Given the description of an element on the screen output the (x, y) to click on. 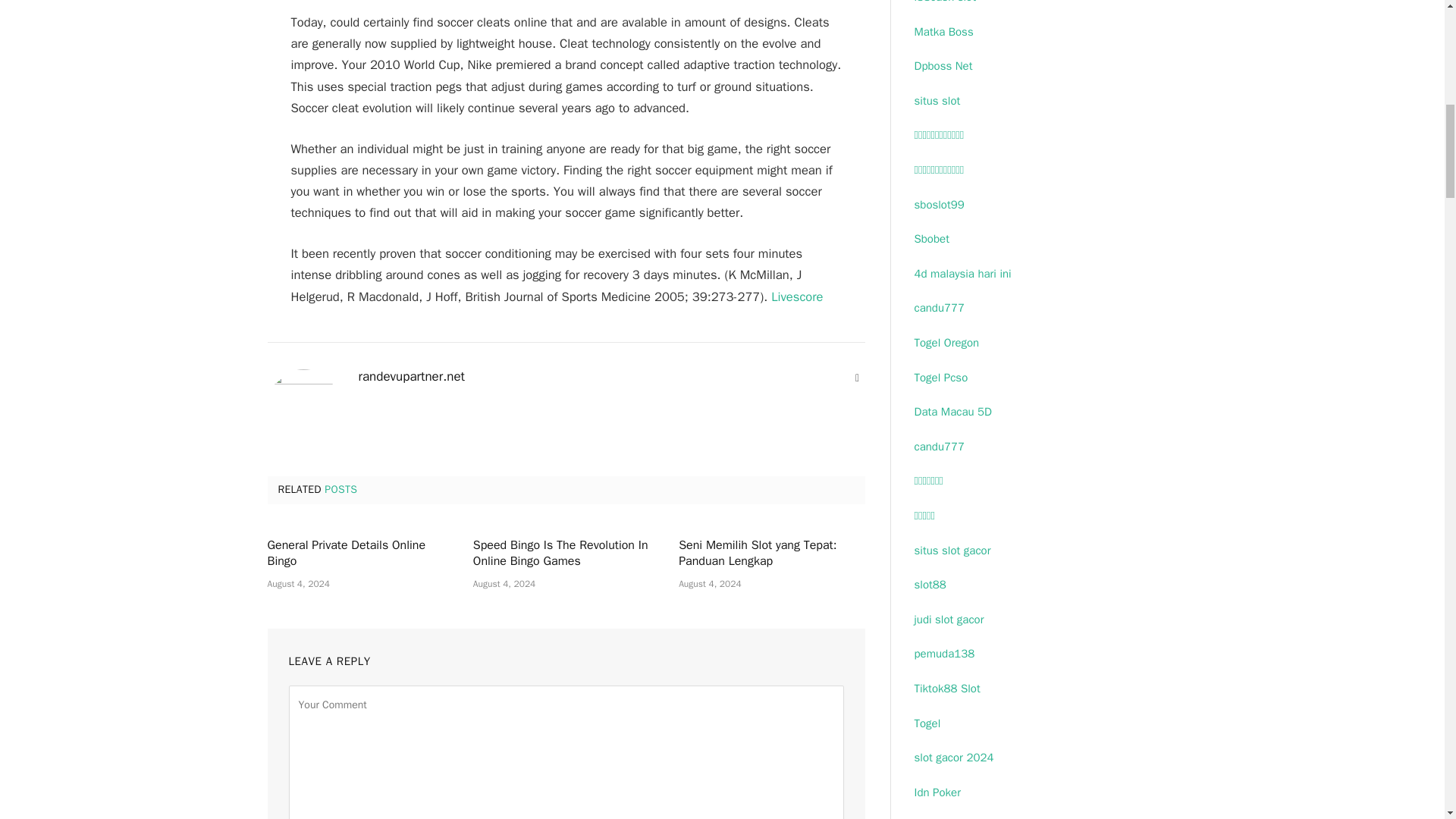
Livescore (796, 296)
General Private Details Online Bingo (359, 553)
randevupartner.net (411, 376)
Website (856, 378)
Posts by randevupartner.net (411, 376)
Speed Bingo Is The Revolution In Online Bingo Games (566, 553)
Website (856, 378)
